Given the description of an element on the screen output the (x, y) to click on. 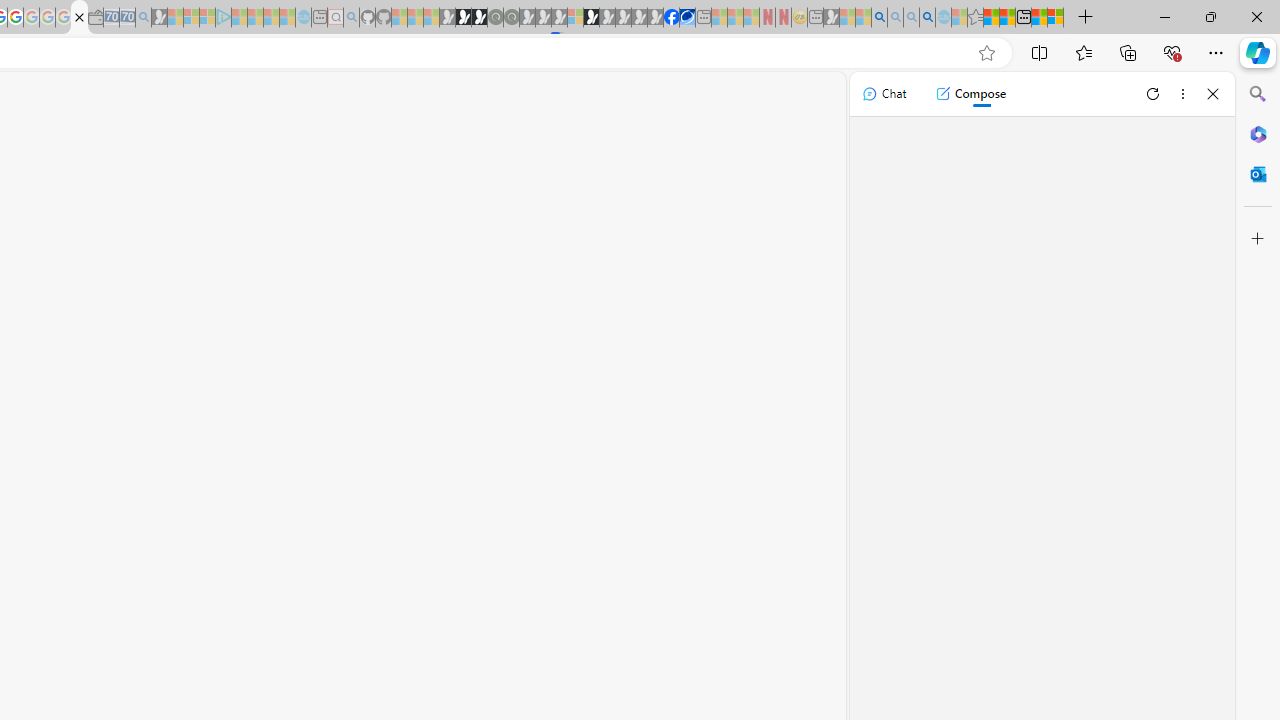
Chat (884, 93)
Play Zoo Boom in your browser | Games from Microsoft Start (463, 17)
Favorites - Sleeping (975, 17)
